Given the description of an element on the screen output the (x, y) to click on. 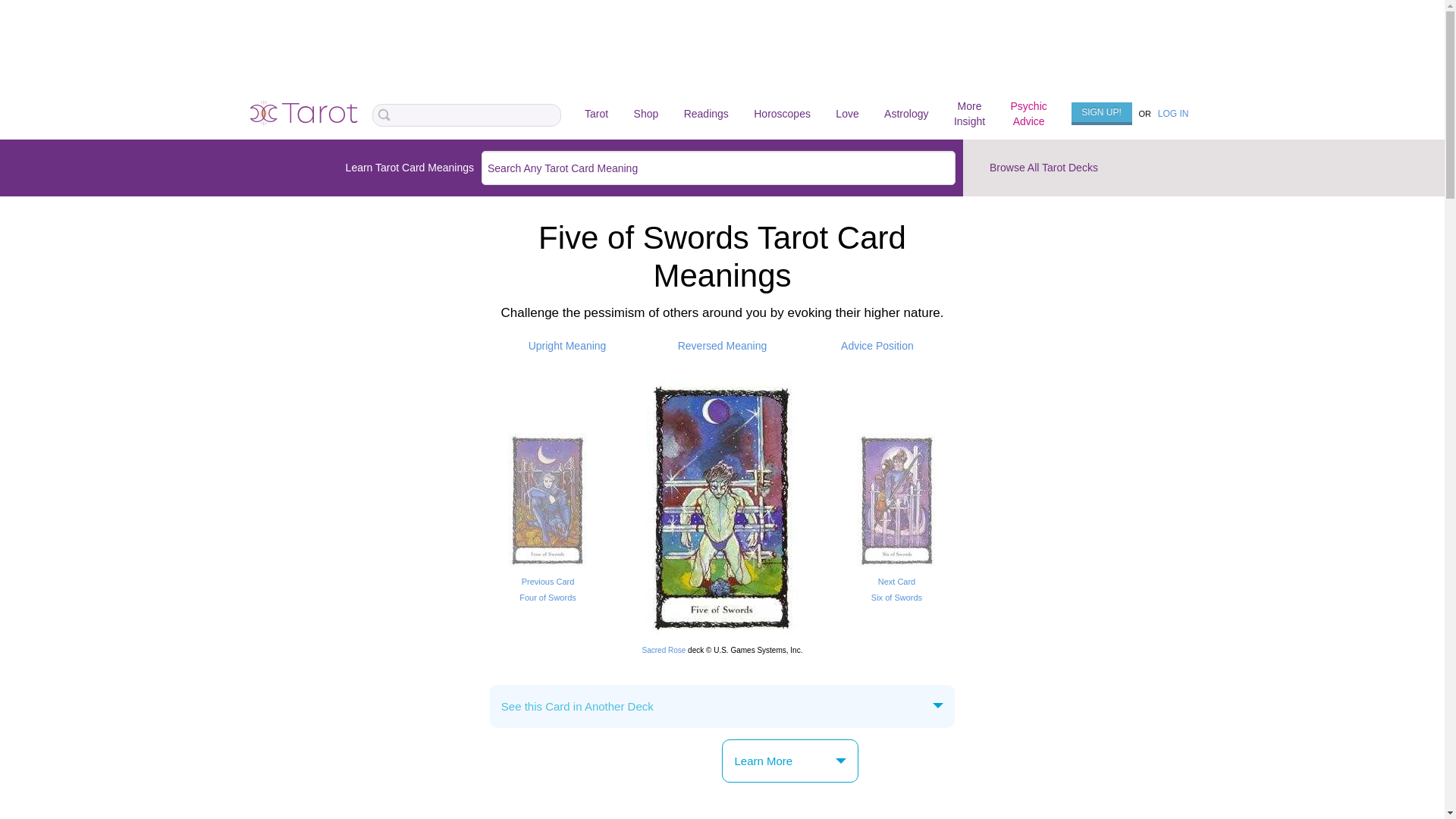
Love (847, 113)
Horoscopes (567, 345)
Astrology (782, 113)
Browse All Tarot Decks (896, 581)
Tarot (722, 345)
